Given the description of an element on the screen output the (x, y) to click on. 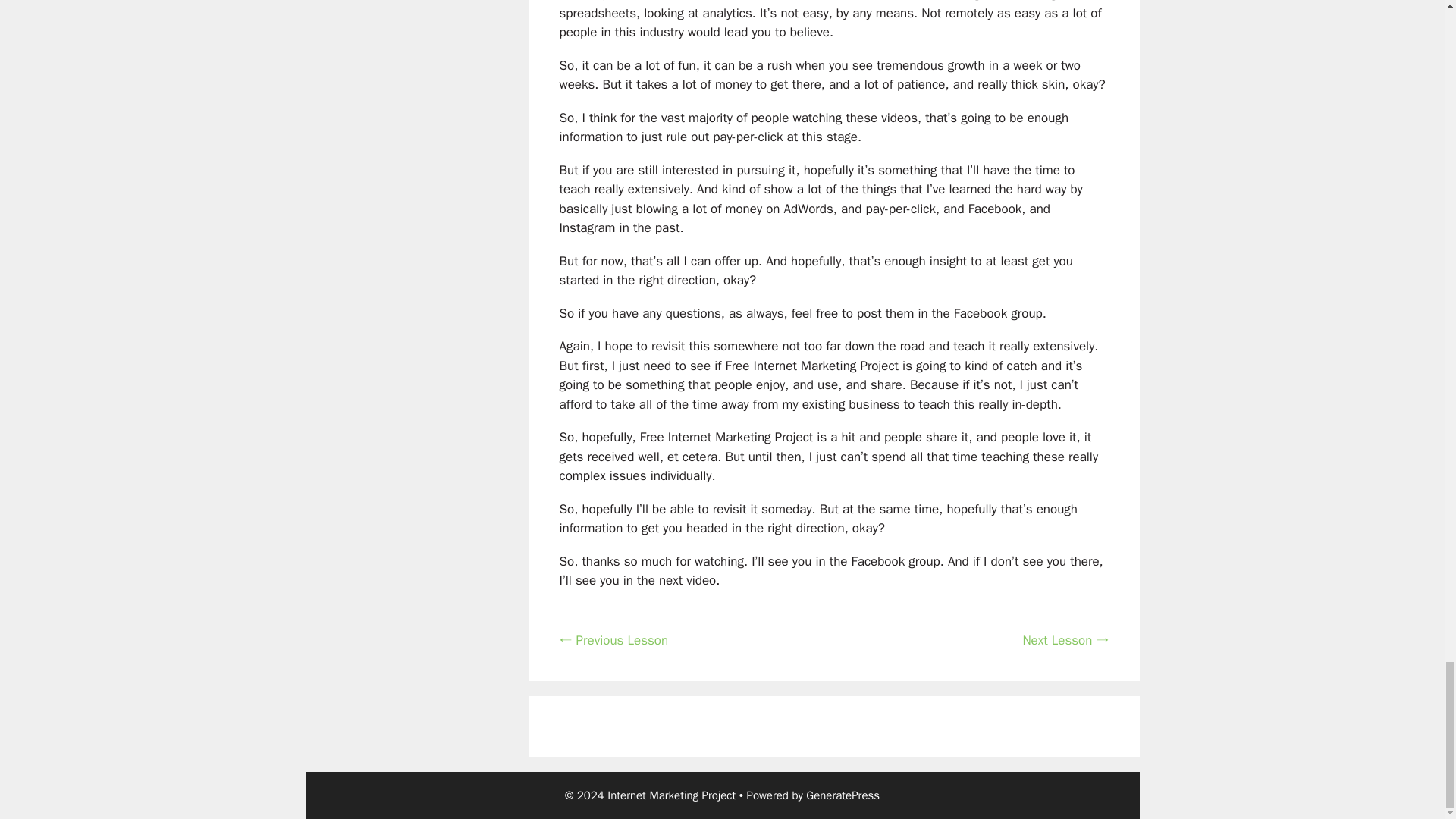
GeneratePress (842, 795)
